Given the description of an element on the screen output the (x, y) to click on. 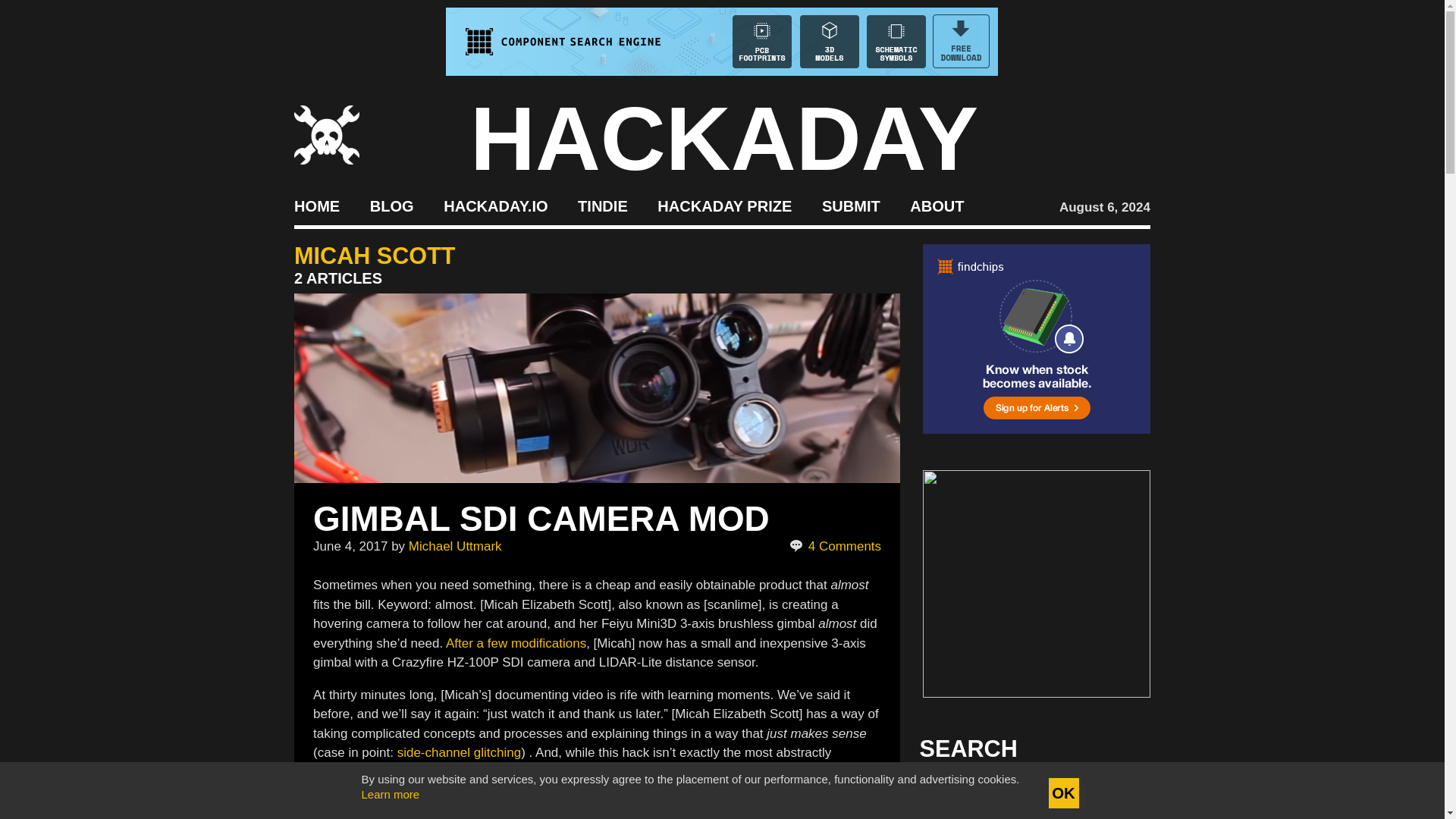
June 4, 2017 - 7:01 am (350, 545)
Build Something that Matters (725, 205)
After a few modifications (515, 643)
HOME (316, 205)
HACKADAY PRIZE (725, 205)
HACKADAY.IO (495, 205)
GIMBAL SDI CAMERA MOD (541, 518)
Posts by Michael Uttmark (455, 545)
HACKADAY (724, 138)
side-channel glitching (459, 752)
Search (1115, 792)
Search (1115, 792)
BLOG (391, 205)
ABOUT (936, 205)
SUBMIT (851, 205)
